Given the description of an element on the screen output the (x, y) to click on. 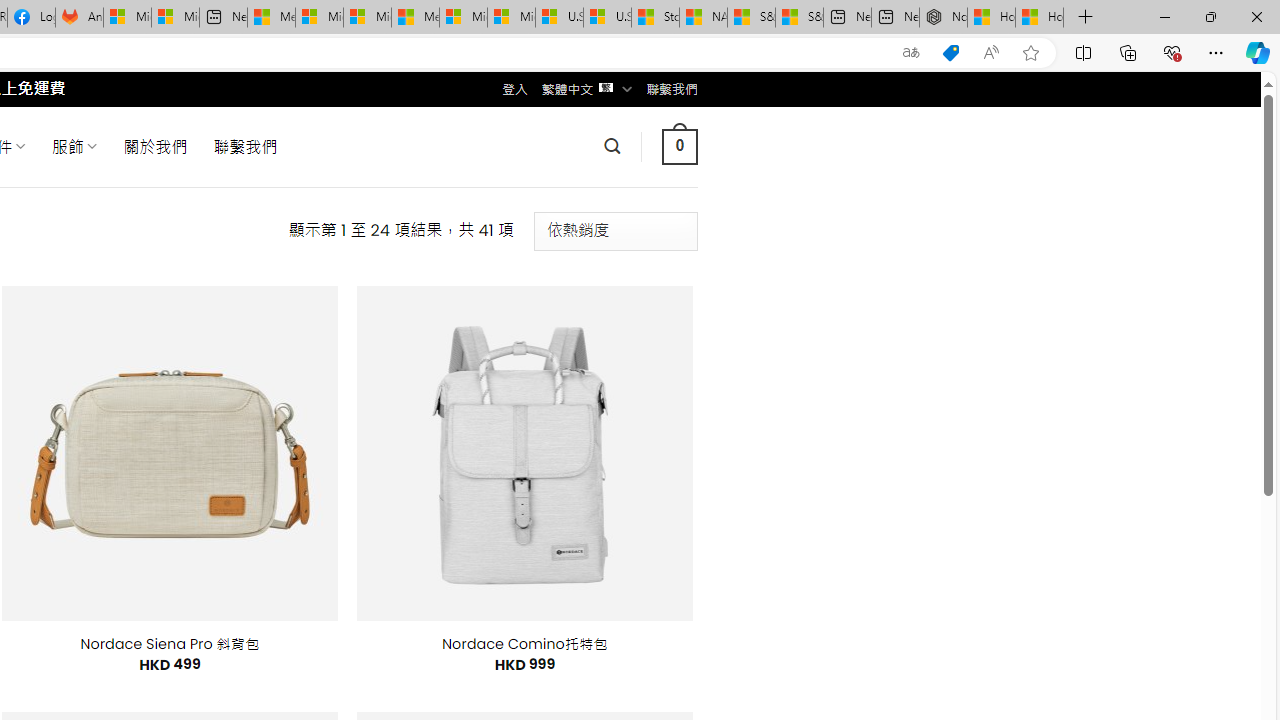
S&P 500, Nasdaq end lower, weighed by Nvidia dip | Watch (799, 17)
How to Use a Monitor With Your Closed Laptop (1039, 17)
